Given the description of an element on the screen output the (x, y) to click on. 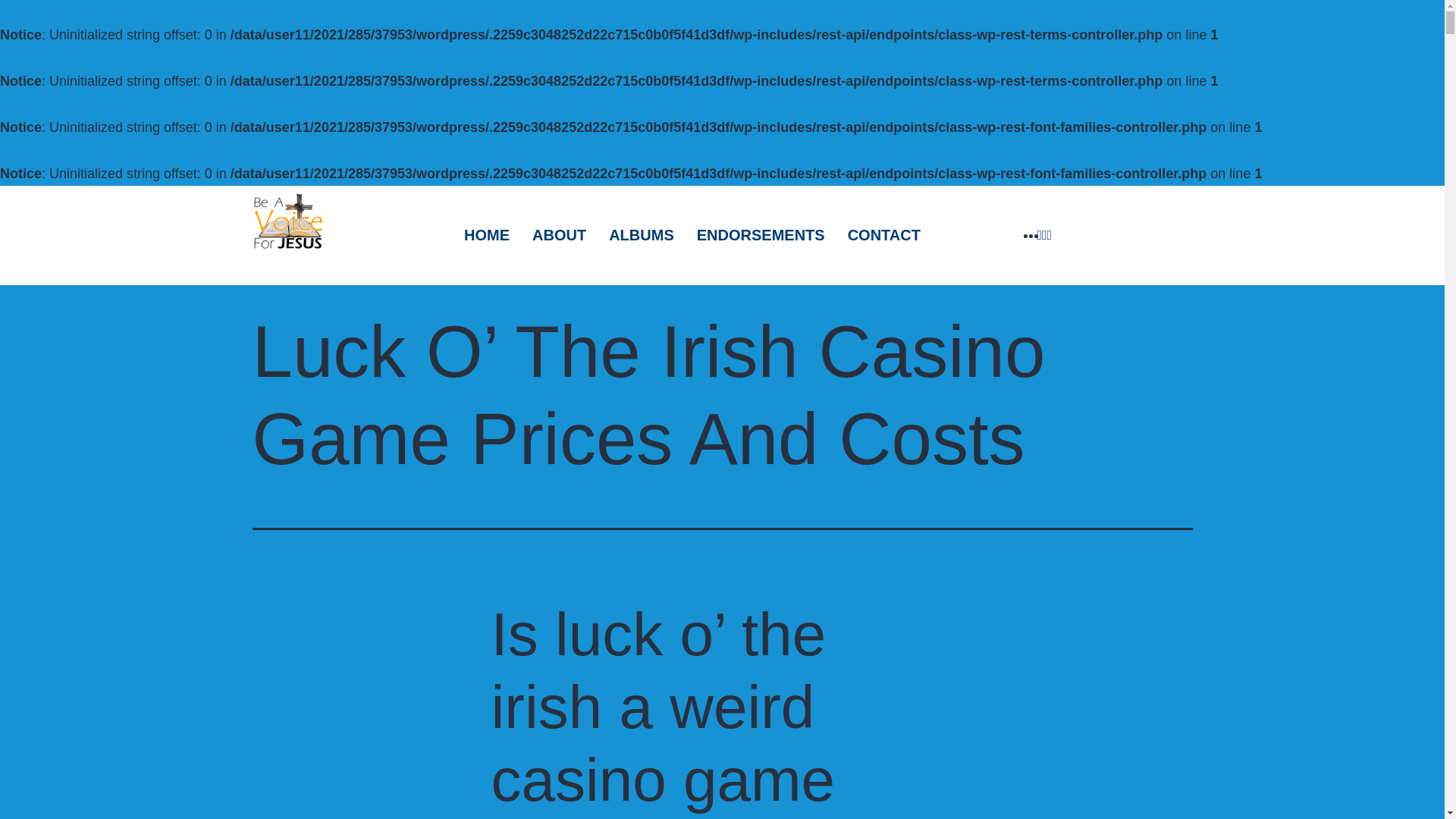
ENDORSEMENTS (760, 234)
ALBUMS (640, 234)
CONTACT (883, 234)
HOME (486, 234)
ABOUT (558, 234)
